Given the description of an element on the screen output the (x, y) to click on. 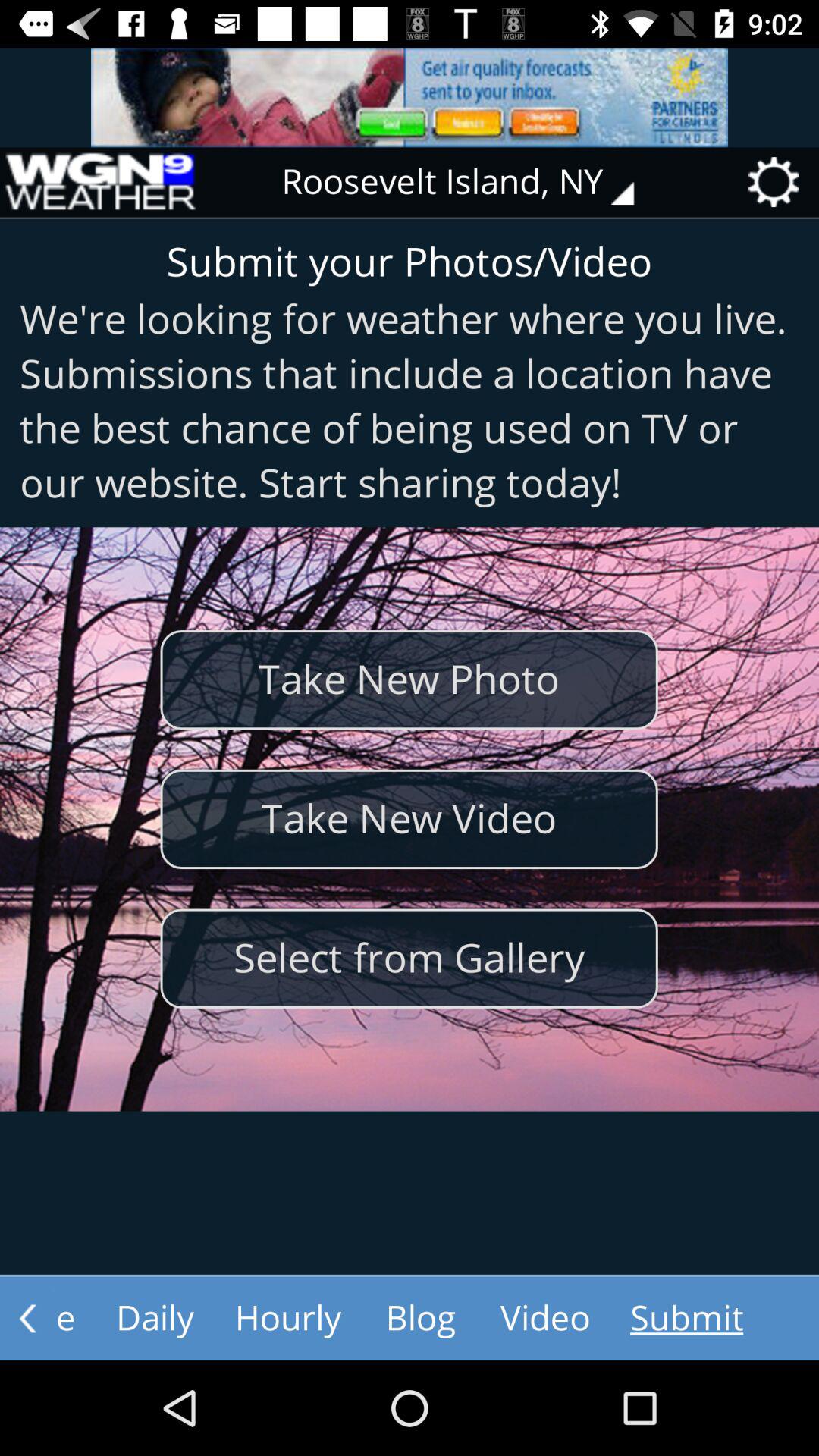
press icon below the take new video item (409, 958)
